Given the description of an element on the screen output the (x, y) to click on. 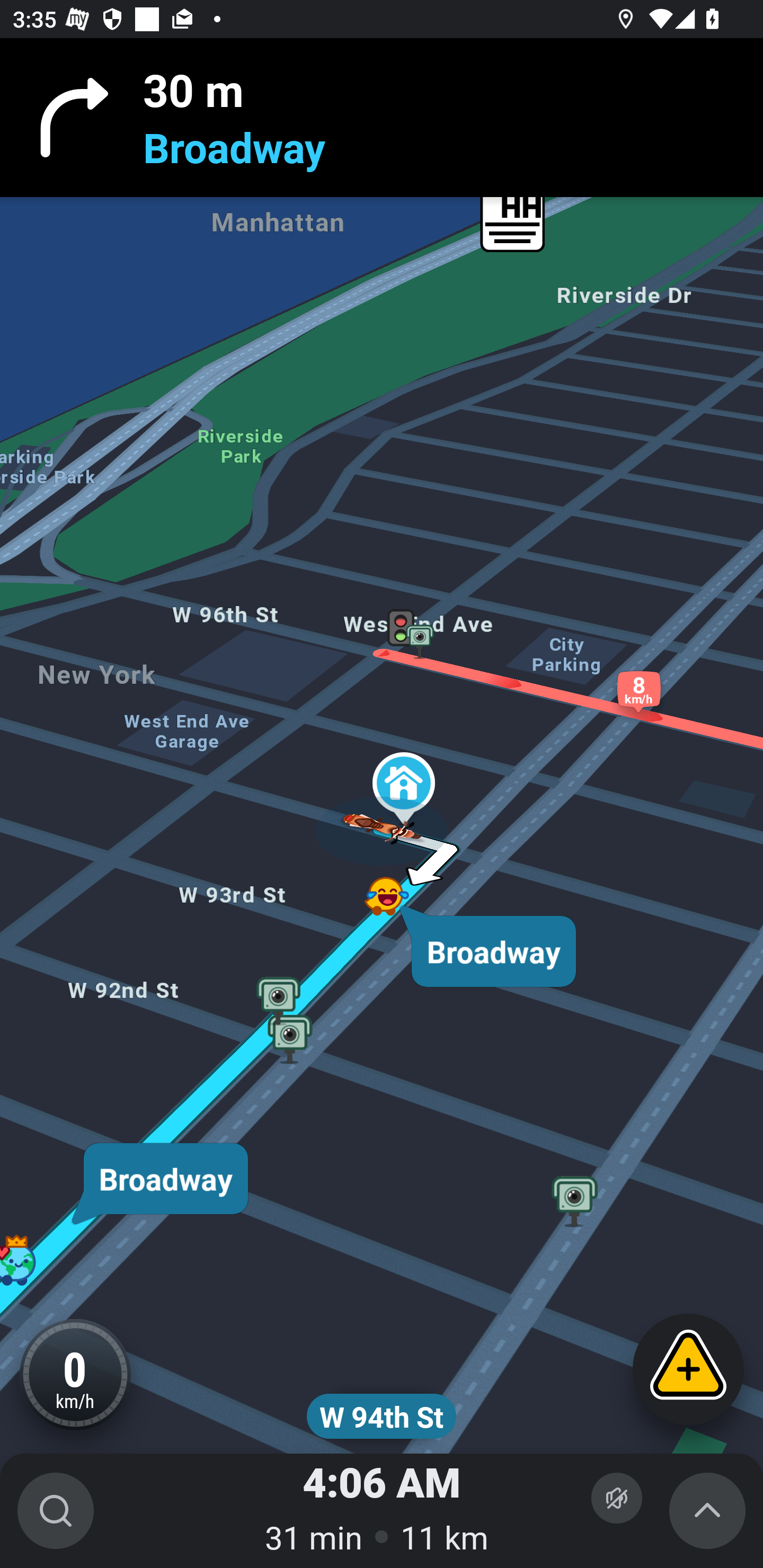
30 m Broadway (381, 117)
4:06 AM 31 min 11 km (381, 1510)
